Given the description of an element on the screen output the (x, y) to click on. 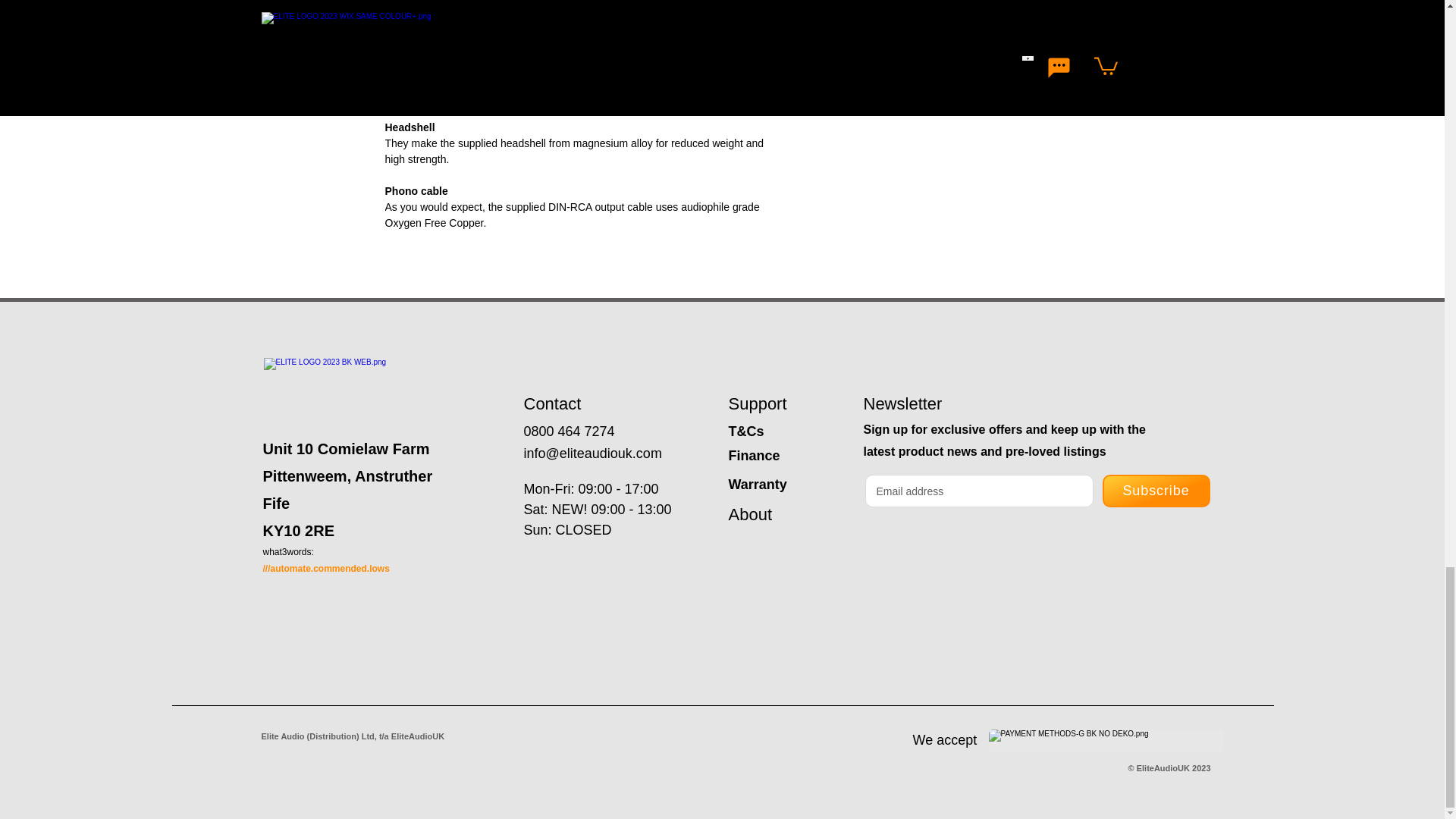
Warranty (757, 483)
About (749, 514)
ELITE AUDIO UK LOGO ORANGE-G.png (369, 384)
Subscribe (1155, 490)
